Given the description of an element on the screen output the (x, y) to click on. 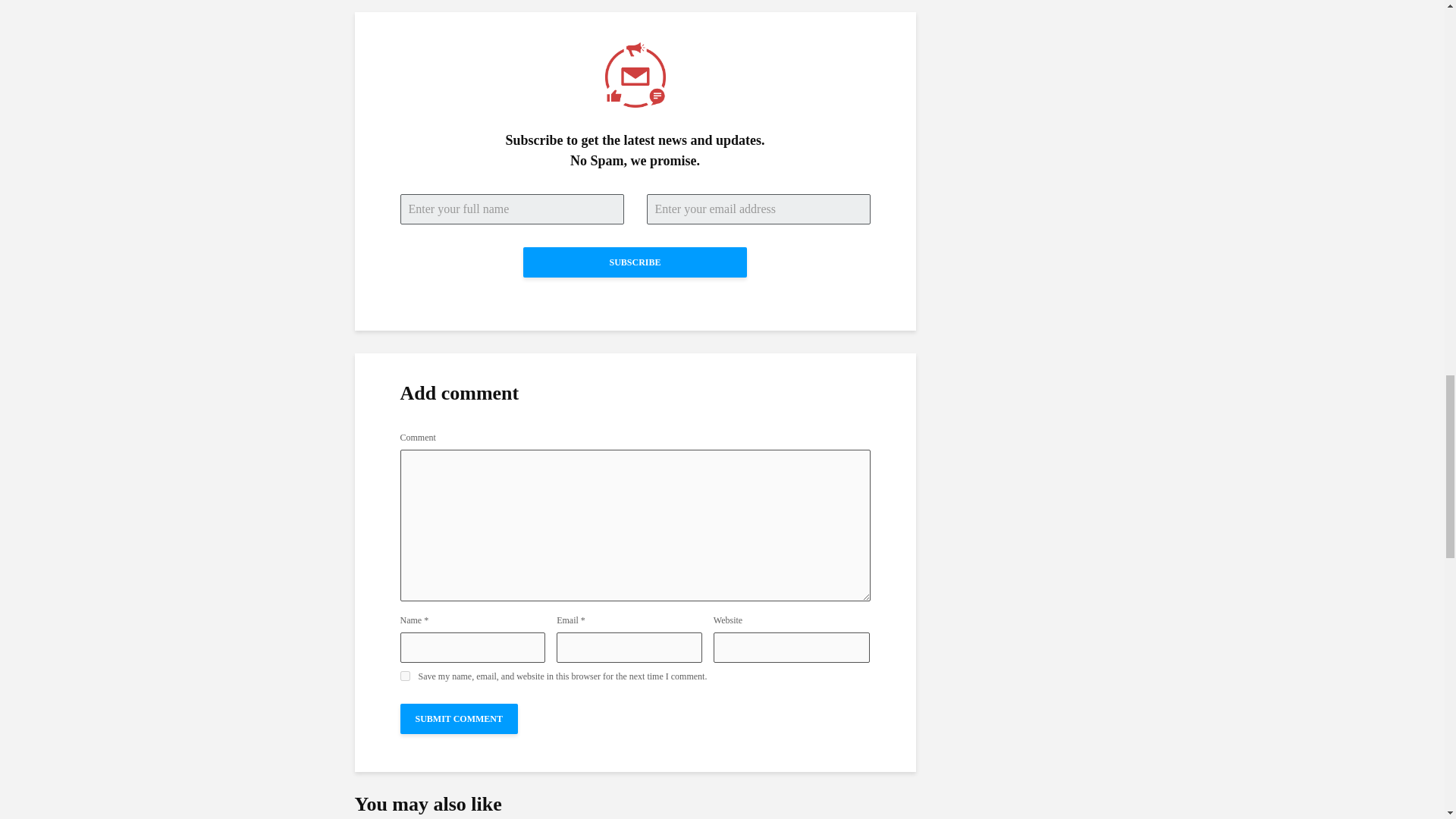
yes (405, 675)
Subscribe (634, 262)
Submit Comment (459, 718)
Submit Comment (459, 718)
Subscribe (634, 262)
